Given the description of an element on the screen output the (x, y) to click on. 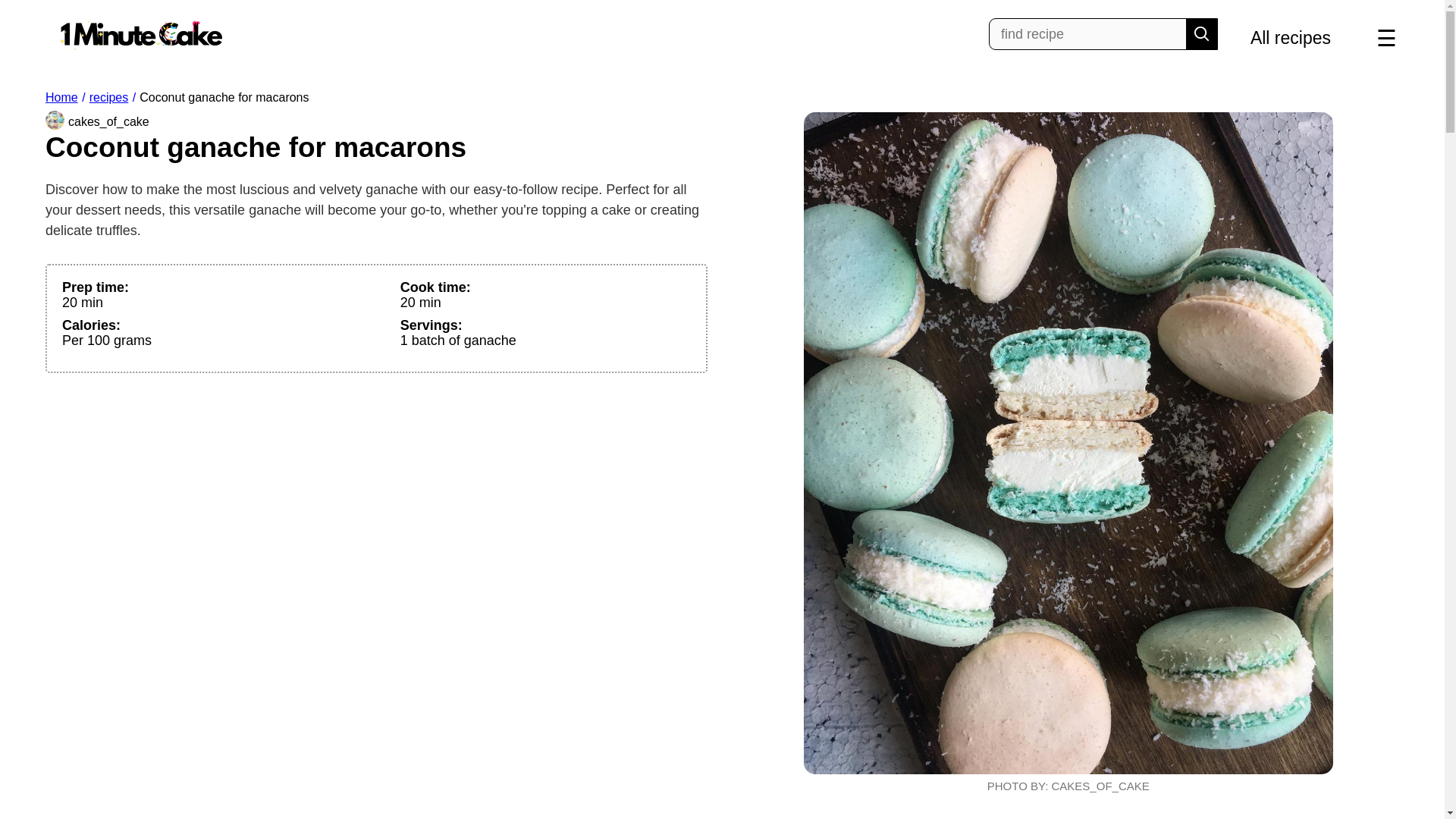
Home (63, 97)
recipes (108, 97)
